Given the description of an element on the screen output the (x, y) to click on. 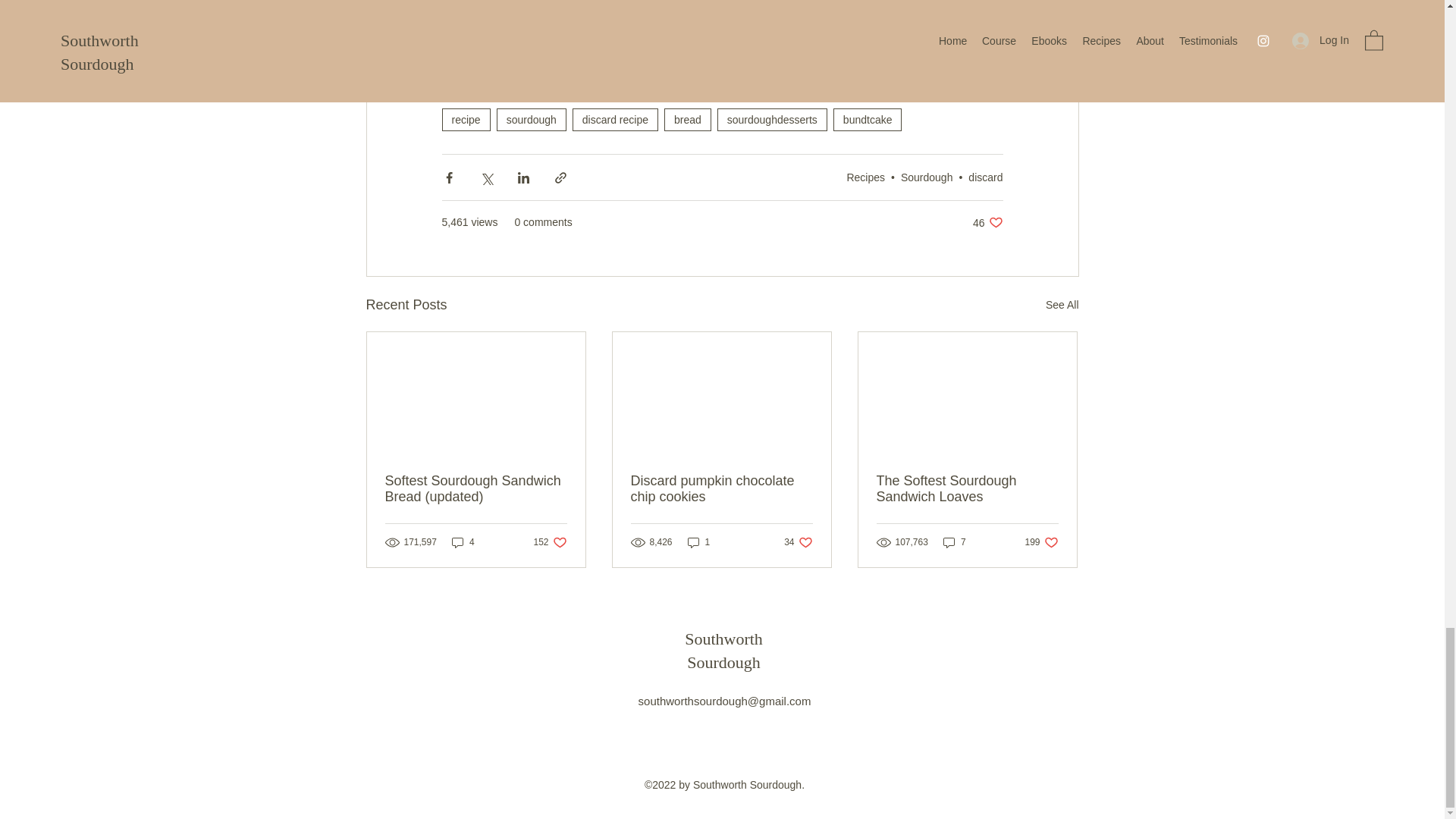
Recipes (865, 177)
Discard pumpkin chocolate chip cookies (721, 489)
recipe (465, 119)
discard recipe (615, 119)
discard (549, 542)
1 (985, 177)
sourdough (698, 542)
bread (531, 119)
See All (687, 119)
sourdoughdesserts (1061, 305)
bundtcake (772, 119)
Sourdough (867, 119)
4 (927, 177)
